Given the description of an element on the screen output the (x, y) to click on. 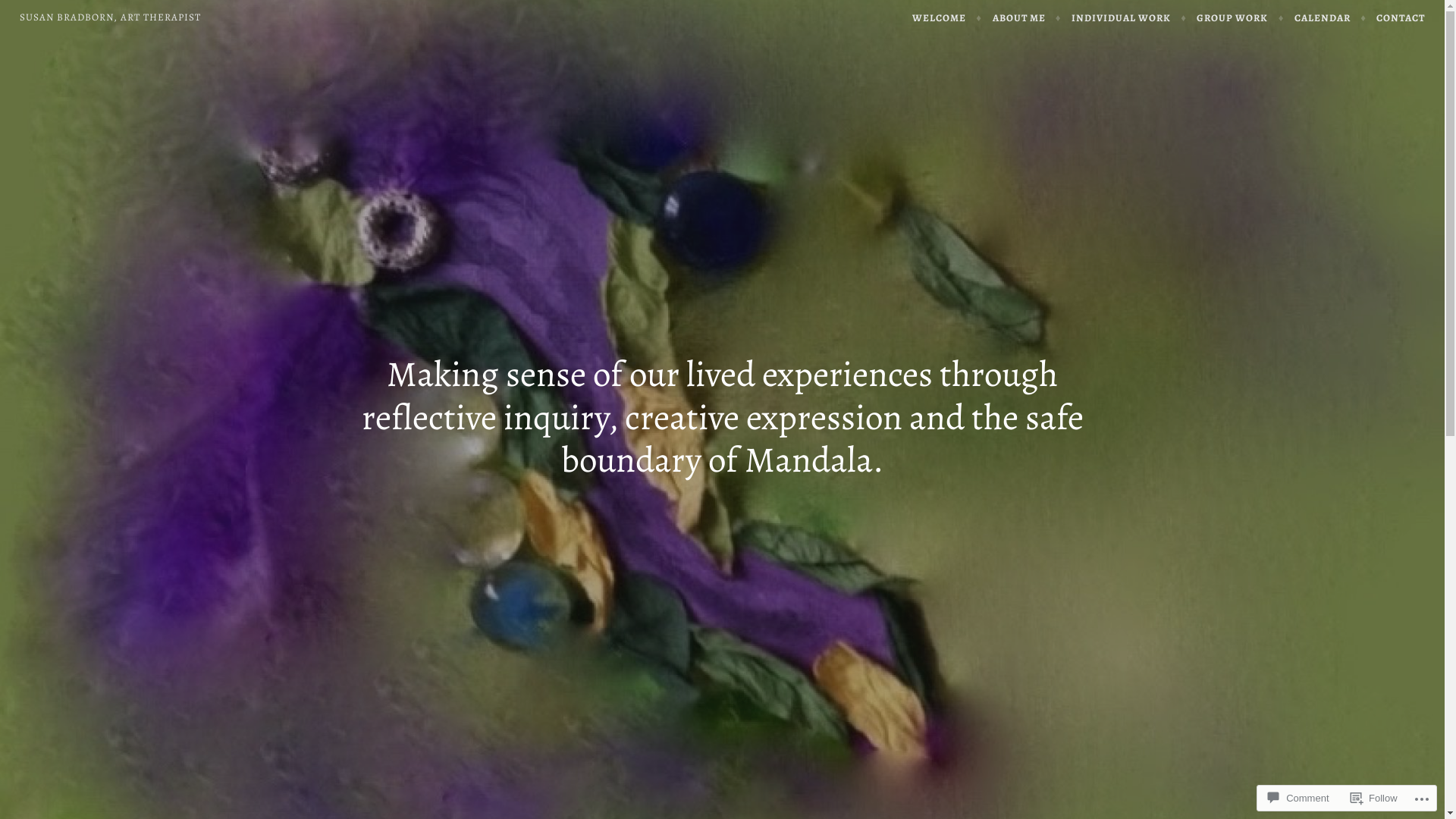
CALENDAR Element type: text (1330, 17)
WELCOME Element type: text (947, 17)
INDIVIDUAL WORK Element type: text (1128, 17)
ABOUT ME Element type: text (1026, 17)
SUSAN BRADBORN, ART THERAPIST Element type: text (109, 17)
GROUP WORK Element type: text (1239, 17)
CONTACT Element type: text (1400, 18)
Comment Element type: text (1297, 797)
Follow Element type: text (1373, 797)
